Given the description of an element on the screen output the (x, y) to click on. 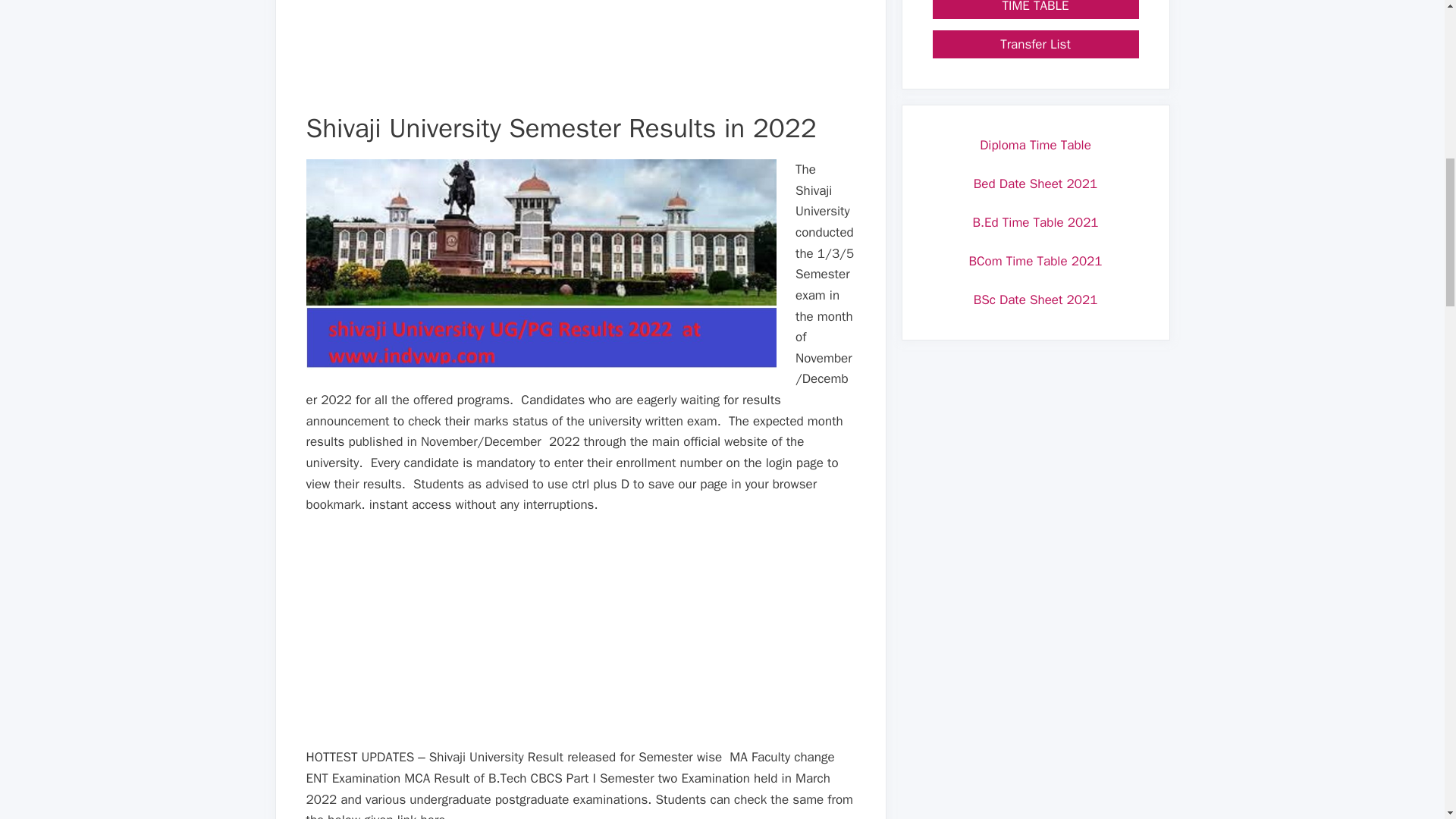
Advertisement (580, 56)
Advertisement (580, 640)
